Given the description of an element on the screen output the (x, y) to click on. 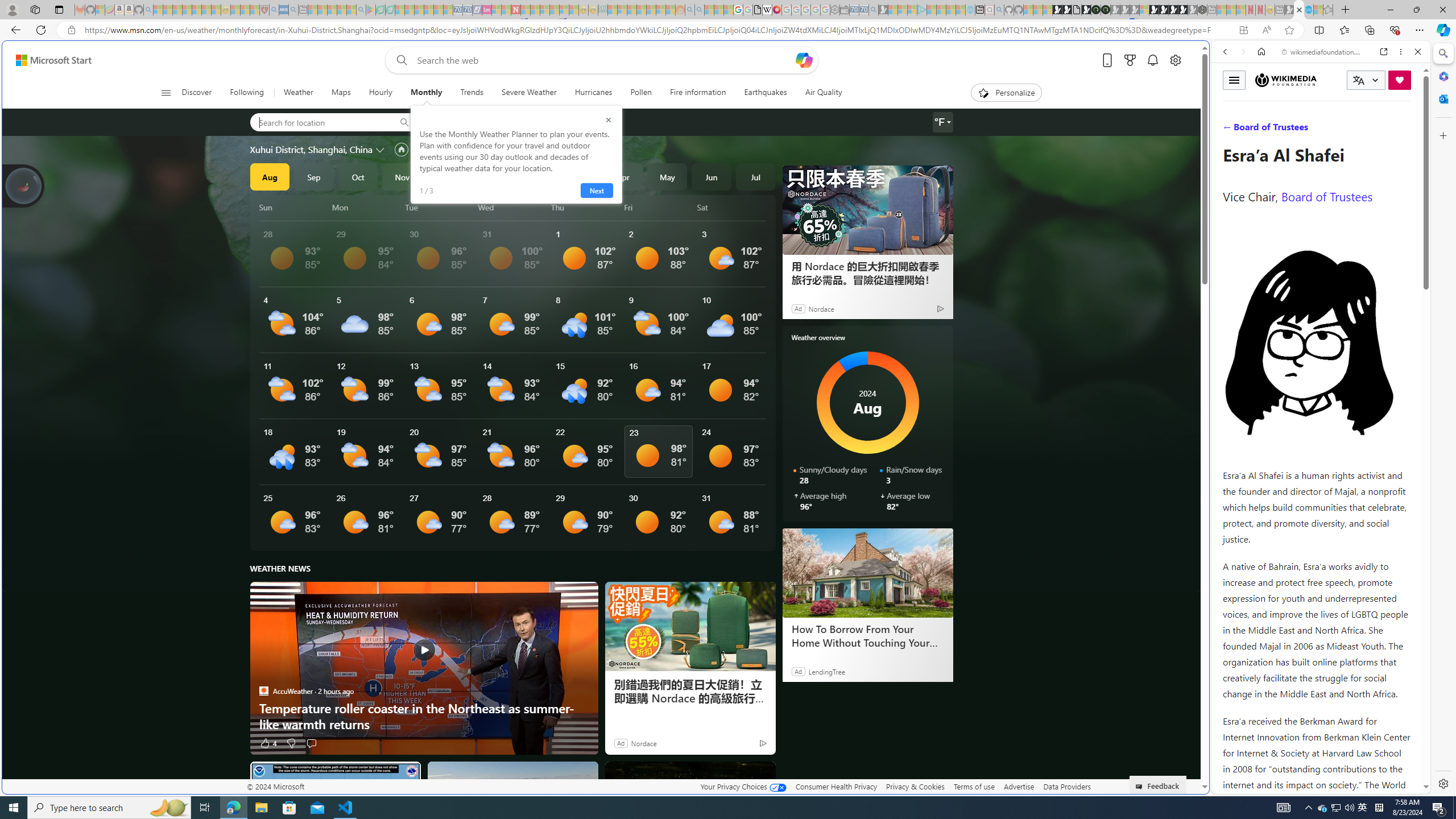
Kinda Frugal - MSN - Sleeping (651, 9)
Hurricanes (593, 92)
Search or enter web address (922, 108)
Sep (313, 176)
Class: feedback_link_icon-DS-EntryPoint1-1 (1140, 786)
LendingTree (826, 671)
4 Like (267, 742)
